Given the description of an element on the screen output the (x, y) to click on. 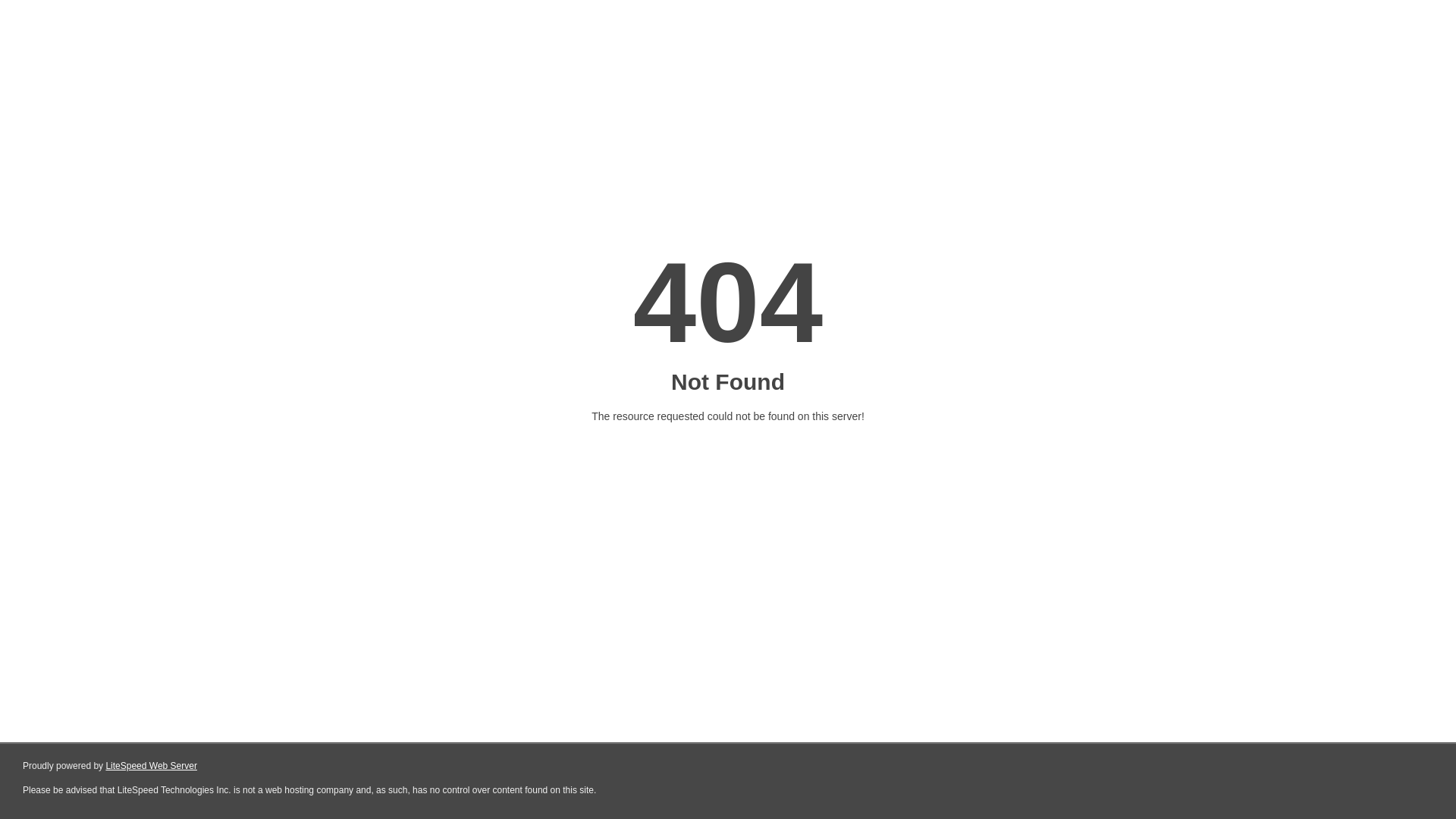
LiteSpeed Web Server Element type: text (151, 765)
